Given the description of an element on the screen output the (x, y) to click on. 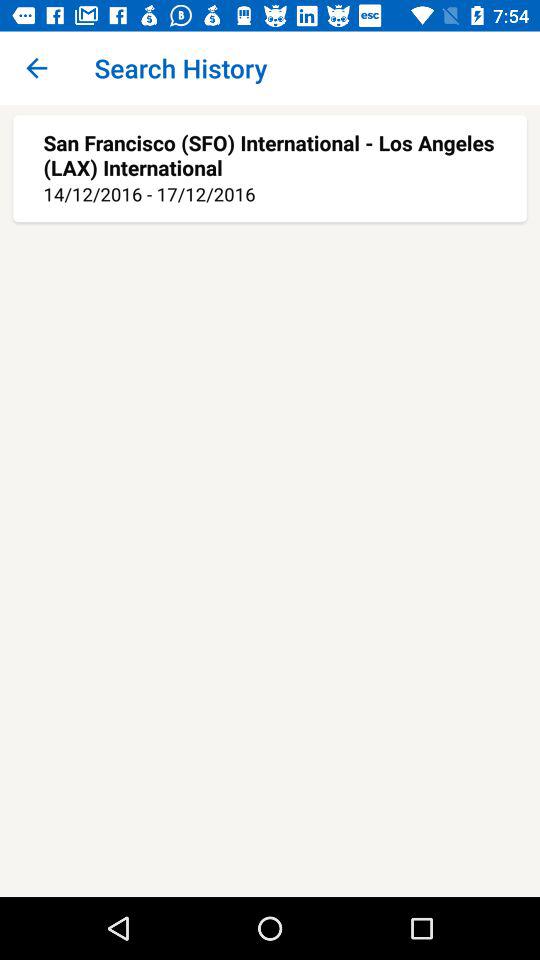
swipe to the 14 12 2016 item (269, 193)
